Given the description of an element on the screen output the (x, y) to click on. 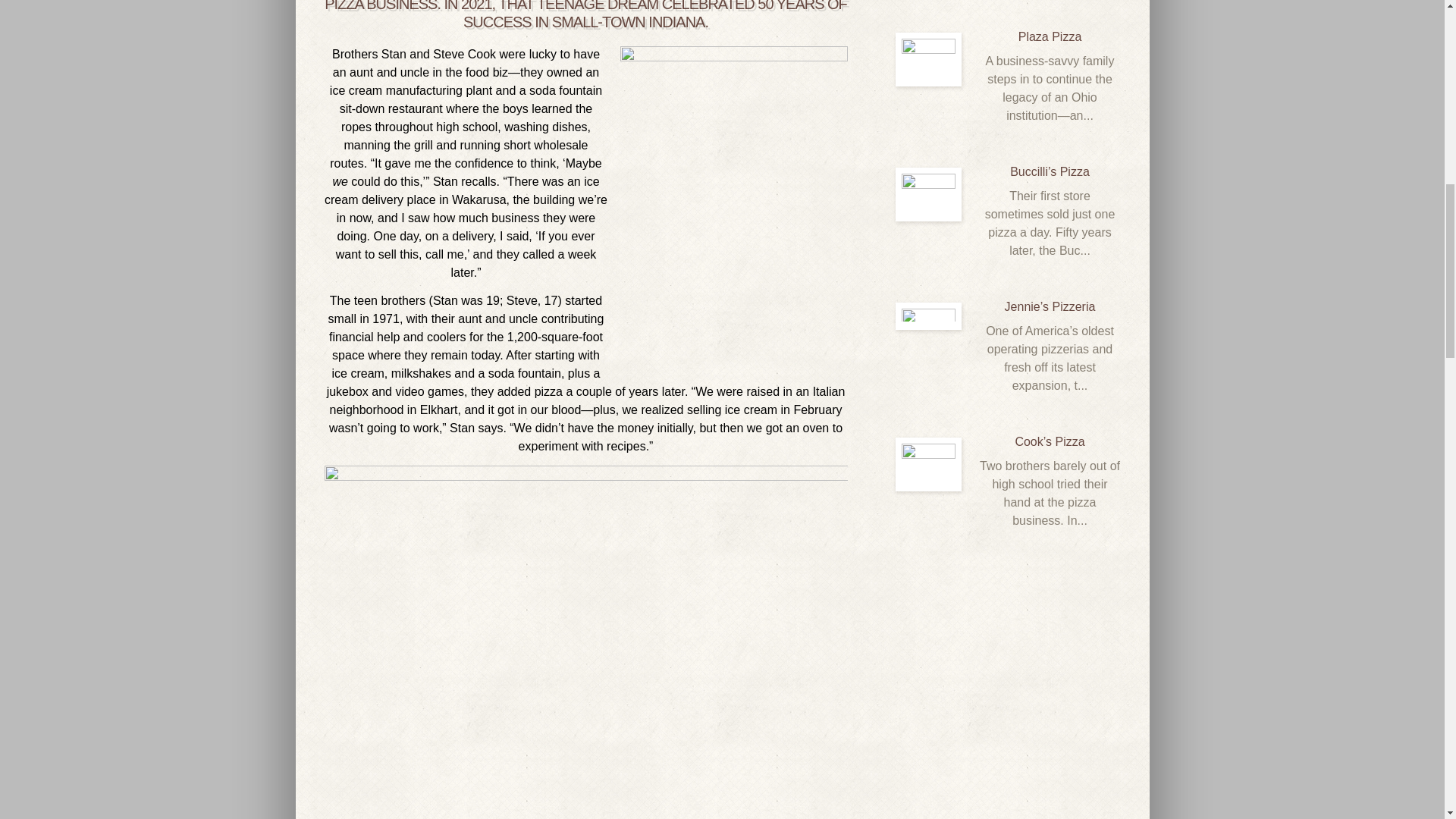
Plaza Pizza (927, 59)
Plaza Pizza (1050, 37)
